Given the description of an element on the screen output the (x, y) to click on. 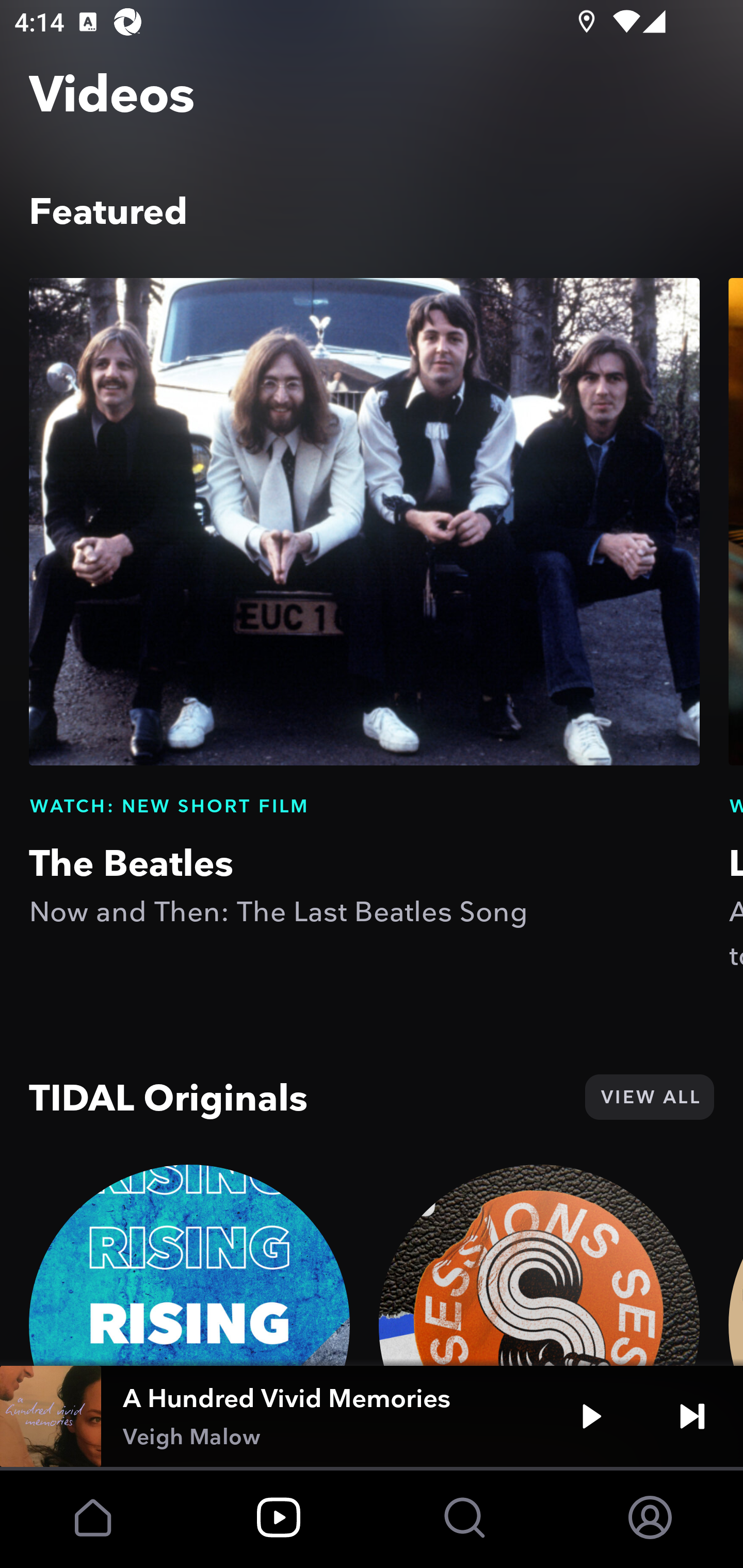
VIEW ALL (649, 1096)
A Hundred Vivid Memories Veigh Malow Play (371, 1416)
Play (590, 1416)
